Given the description of an element on the screen output the (x, y) to click on. 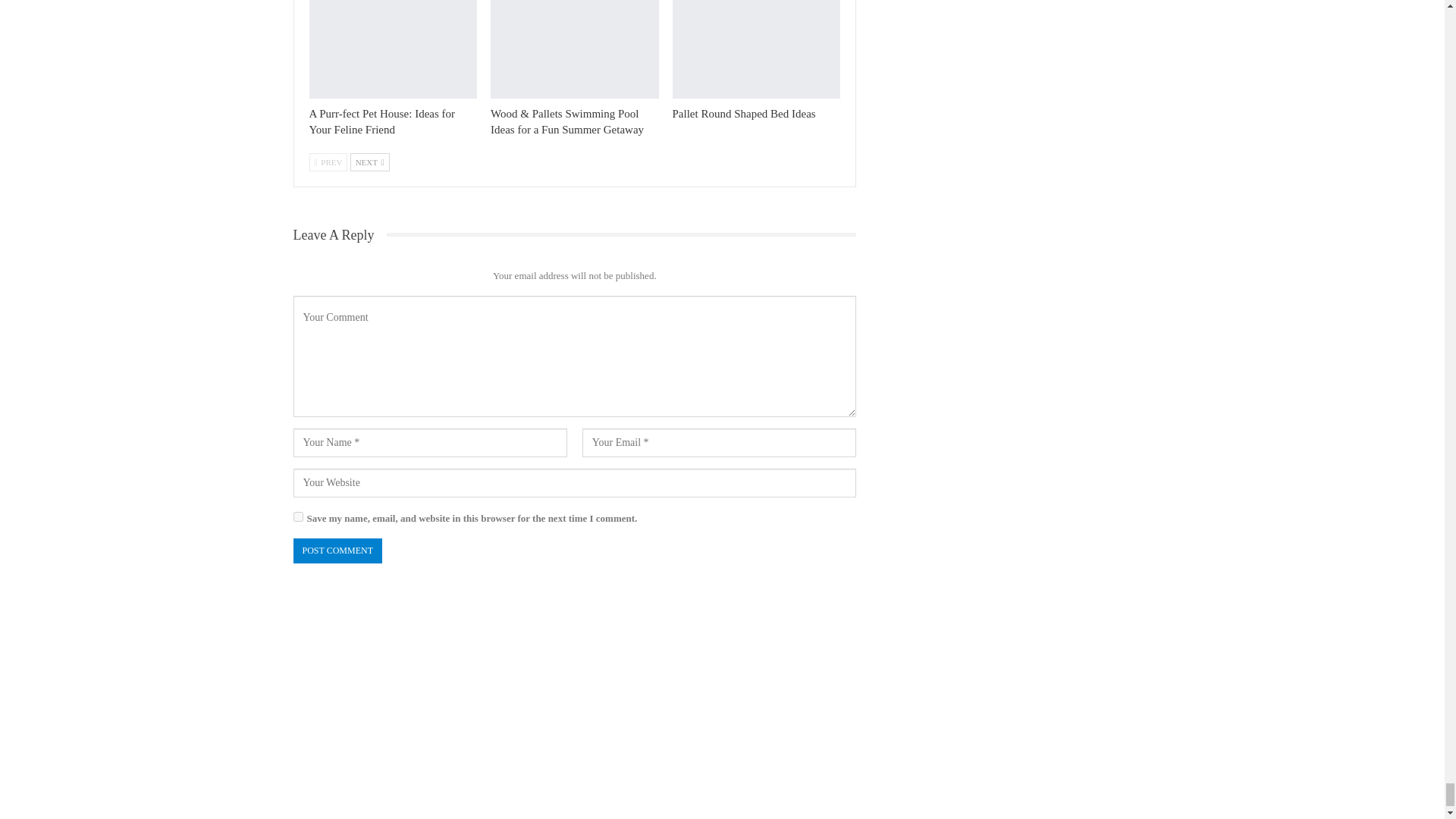
Post Comment (336, 550)
A Purr-fect Pet House: Ideas for Your Feline Friend (381, 121)
A Purr-fect Pet House: Ideas for Your Feline Friend (392, 49)
yes (297, 516)
Pallet Round Shaped Bed Ideas (743, 113)
Previous (327, 162)
Pallet Round Shaped Bed Ideas (756, 49)
Next (370, 162)
